Given the description of an element on the screen output the (x, y) to click on. 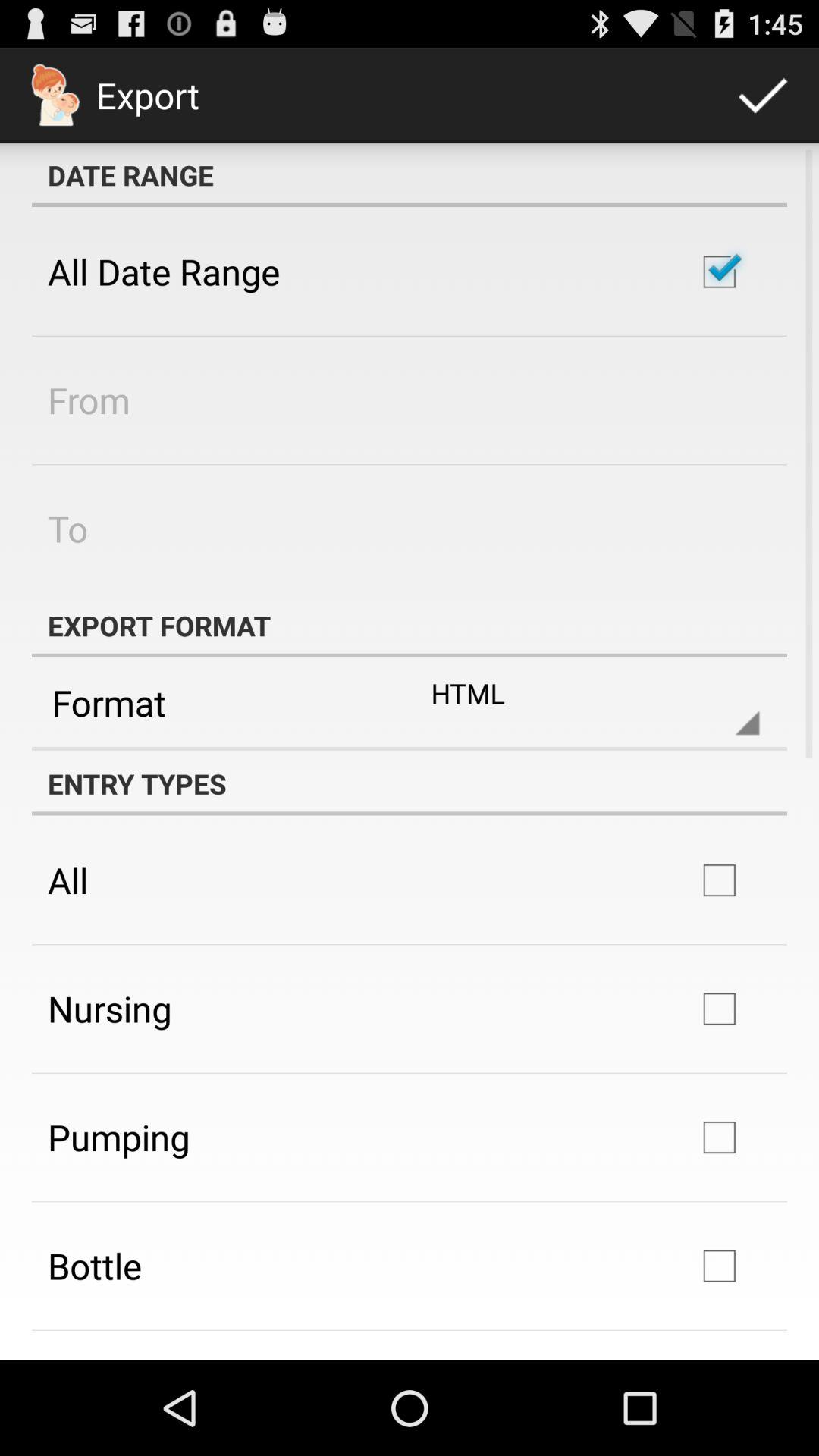
turn off the item below nursing (118, 1137)
